Given the description of an element on the screen output the (x, y) to click on. 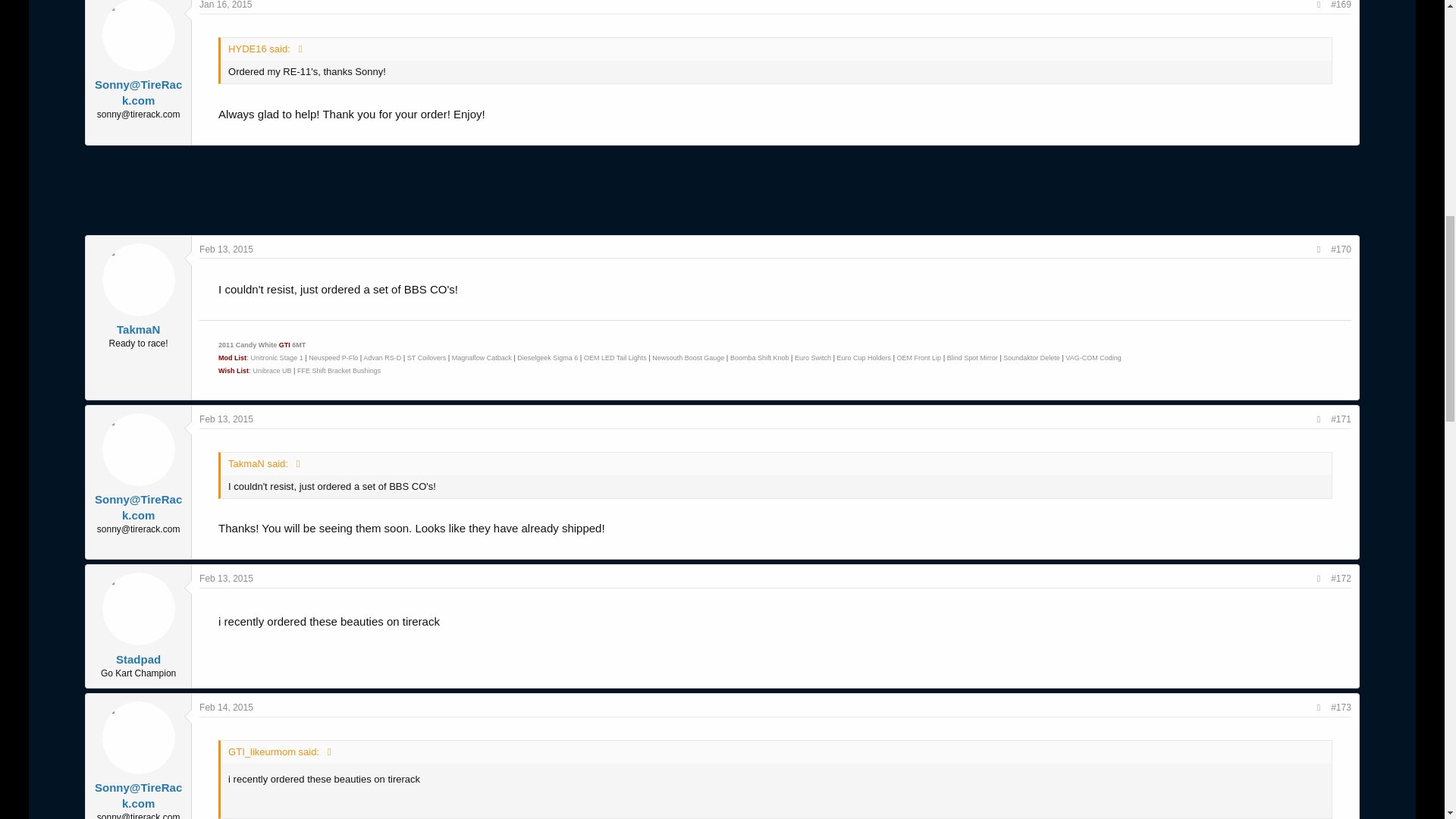
Feb 13, 2015 at 12:34 PM (226, 249)
Jan 16, 2015 at 7:37 AM (225, 4)
Feb 13, 2015 at 4:18 PM (226, 578)
Feb 13, 2015 at 3:45 PM (226, 419)
